Given the description of an element on the screen output the (x, y) to click on. 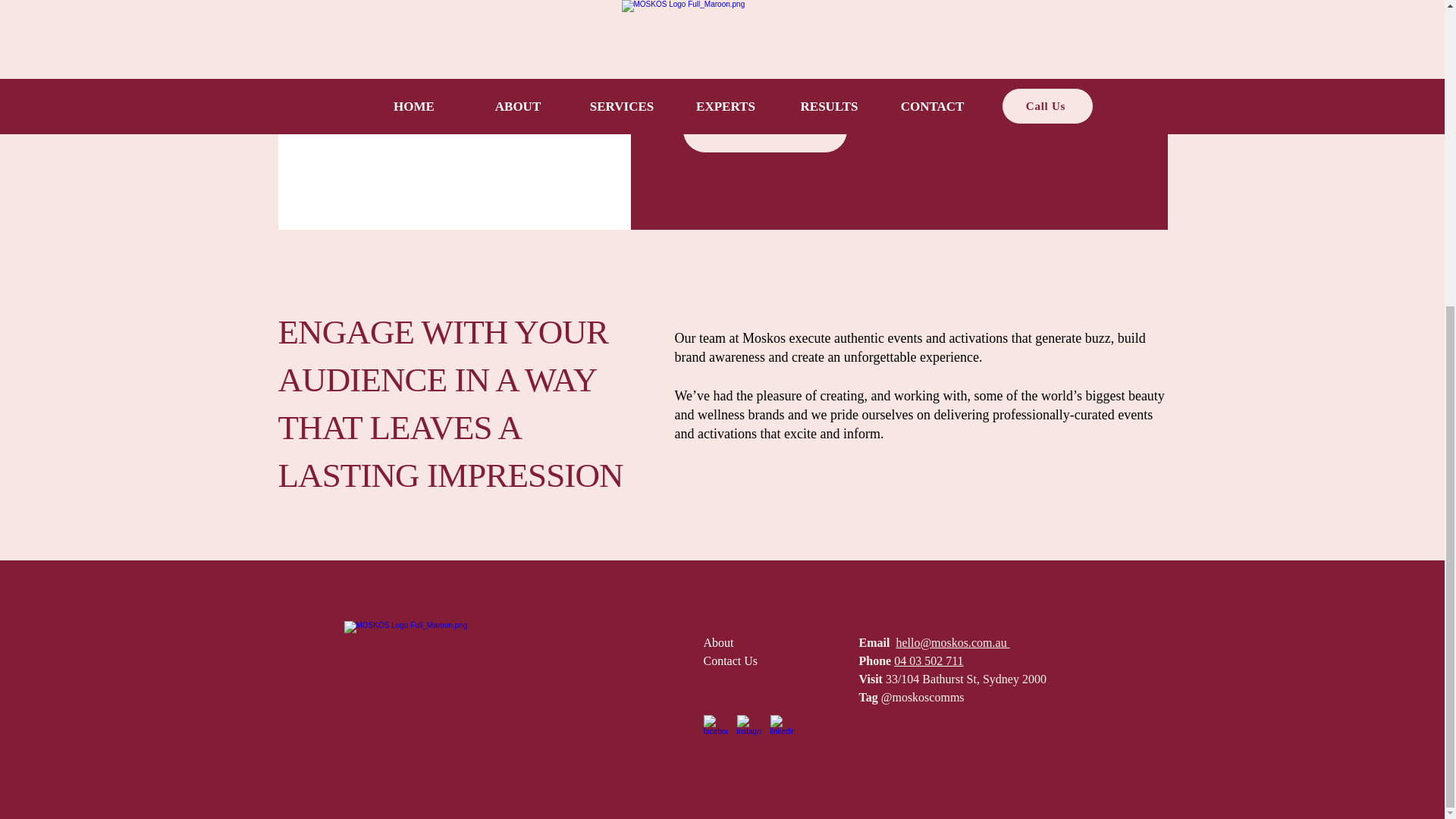
Contact Us (730, 660)
Get Started (764, 130)
04 03 502 711 (927, 660)
Young Model (454, 115)
About (718, 642)
